Given the description of an element on the screen output the (x, y) to click on. 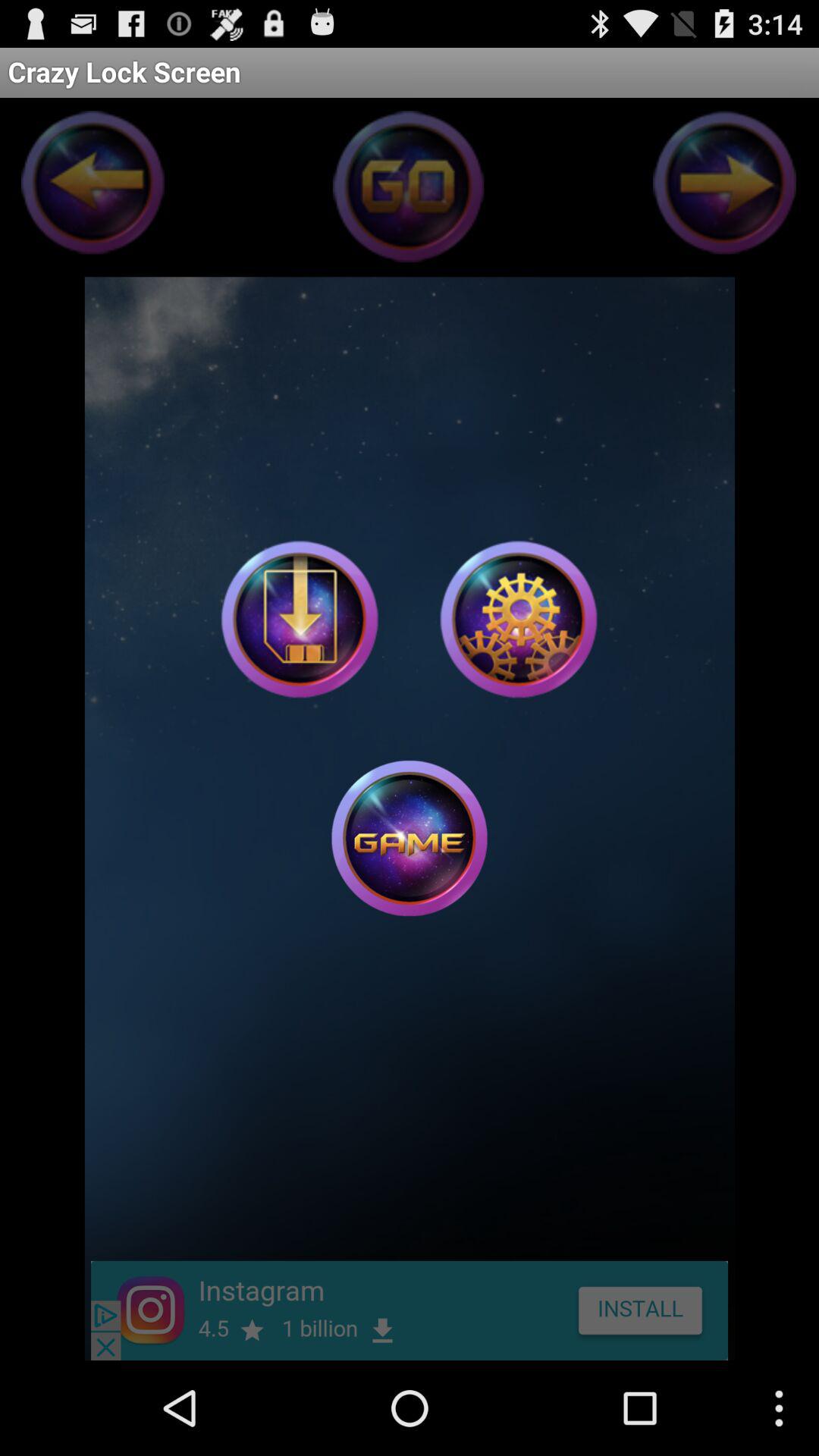
open the app below crazy lock screen icon (518, 618)
